Given the description of an element on the screen output the (x, y) to click on. 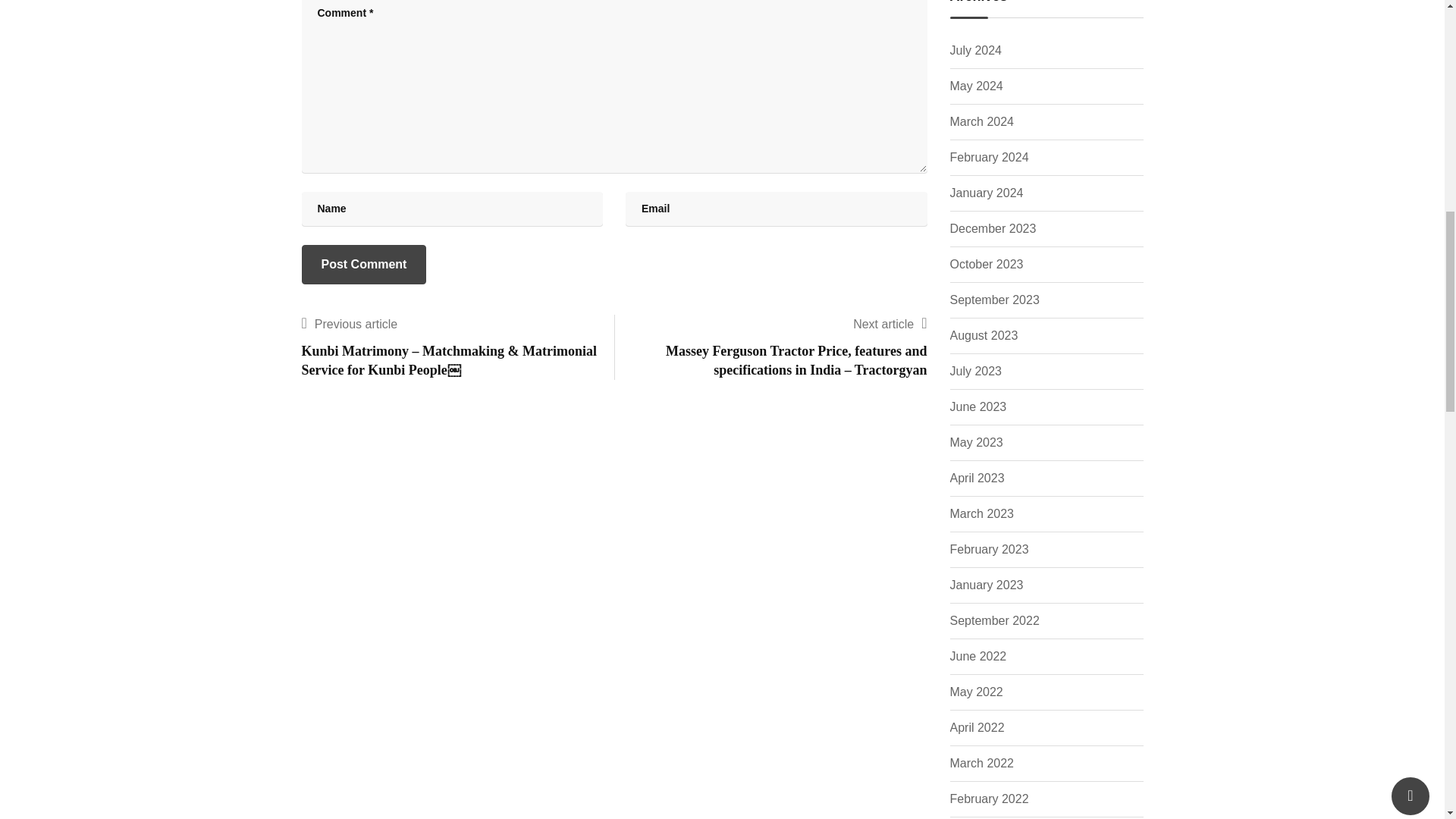
February 2024 (988, 157)
December 2023 (992, 229)
Post Comment (363, 264)
Post Comment (363, 264)
Previous article (355, 323)
January 2024 (986, 193)
May 2024 (976, 86)
Next article (883, 323)
March 2024 (981, 121)
July 2024 (975, 50)
